Given the description of an element on the screen output the (x, y) to click on. 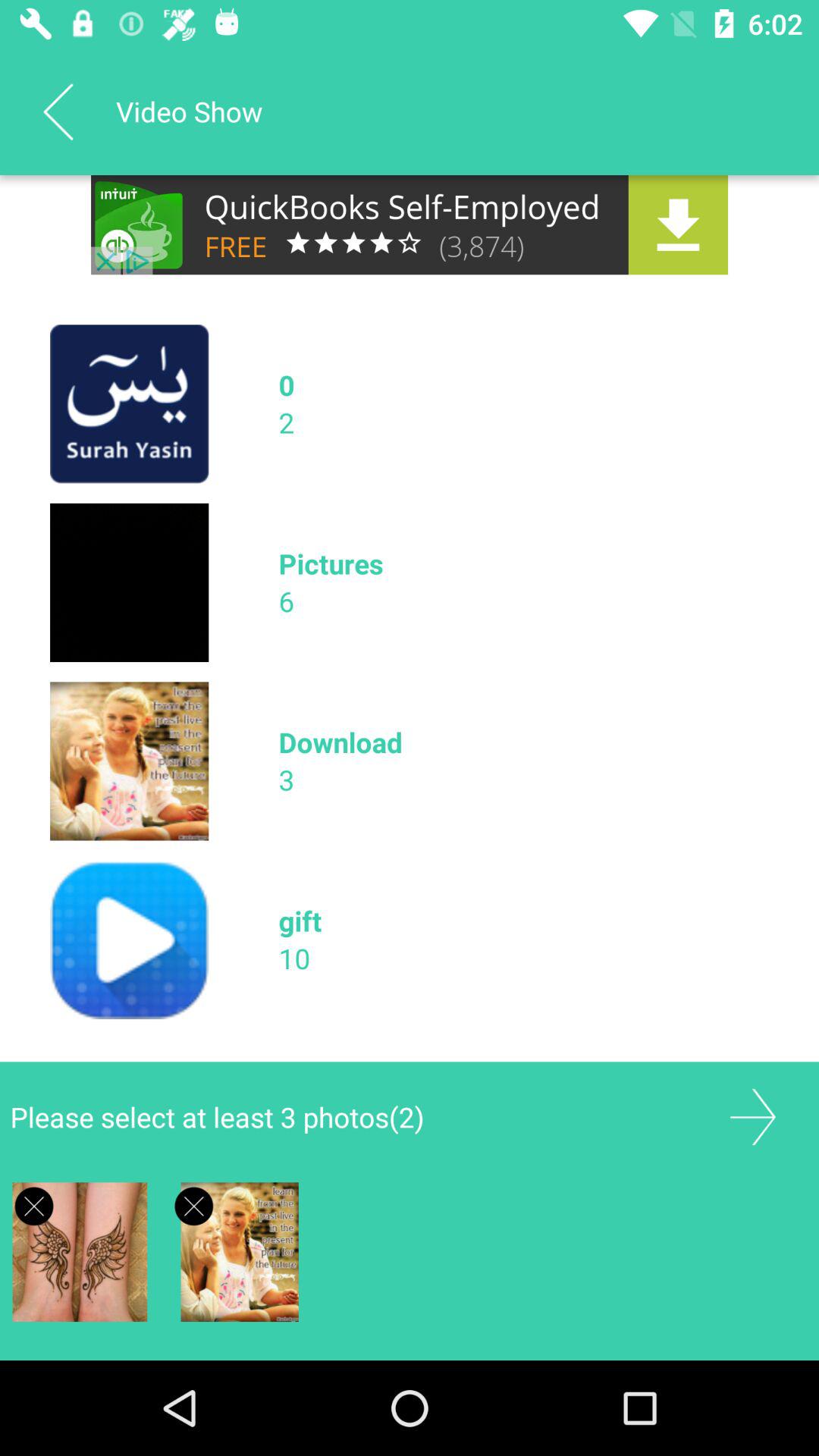
next field (752, 1116)
